Given the description of an element on the screen output the (x, y) to click on. 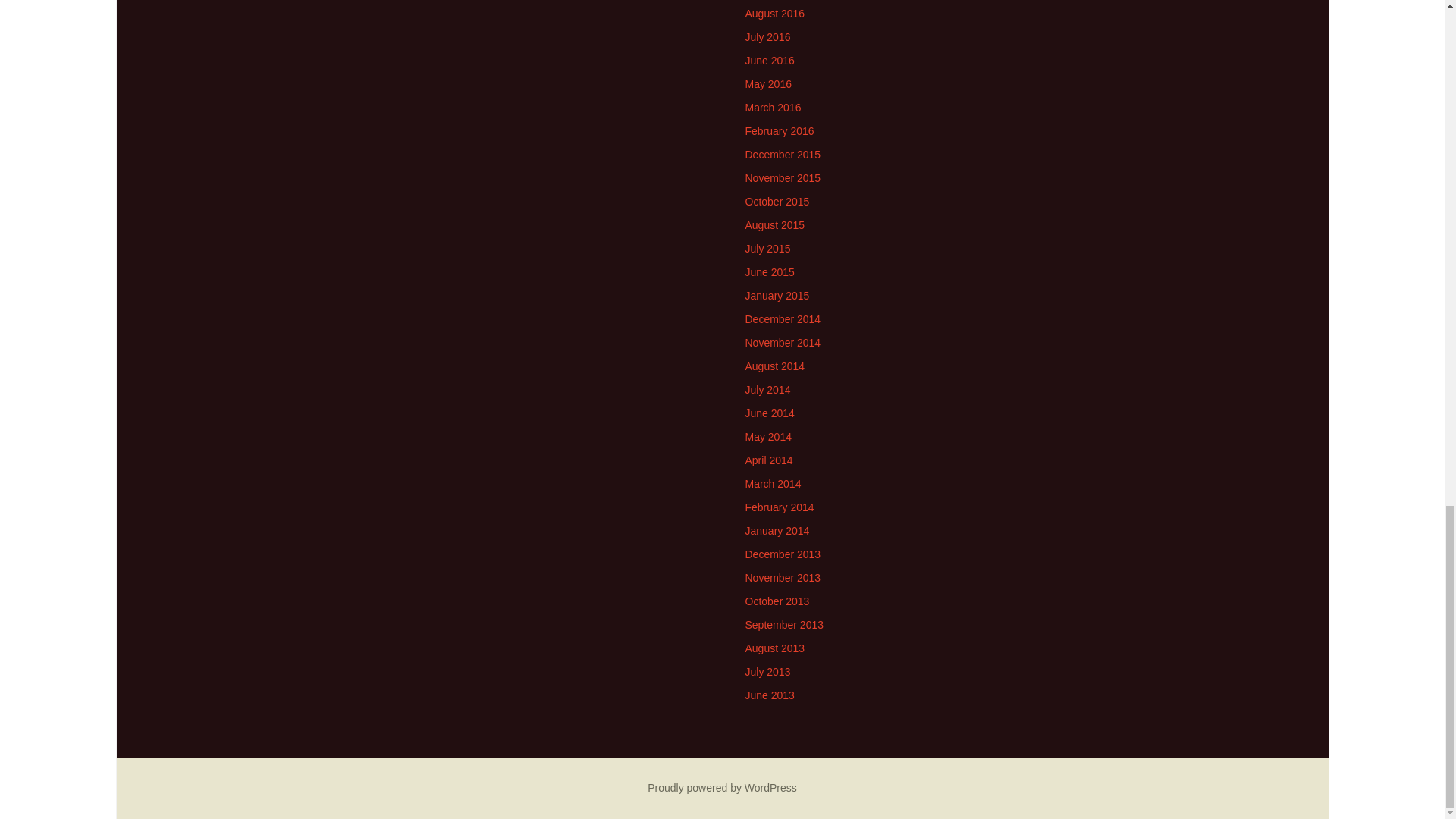
August 2014 (774, 366)
April 2014 (768, 460)
June 2016 (768, 60)
Semantic Personal Publishing Platform (721, 787)
October 2015 (776, 201)
June 2014 (768, 413)
July 2015 (767, 248)
March 2016 (772, 107)
January 2015 (776, 295)
March 2014 (772, 483)
August 2016 (774, 13)
June 2015 (768, 272)
December 2014 (782, 318)
February 2016 (778, 131)
November 2015 (782, 177)
